Given the description of an element on the screen output the (x, y) to click on. 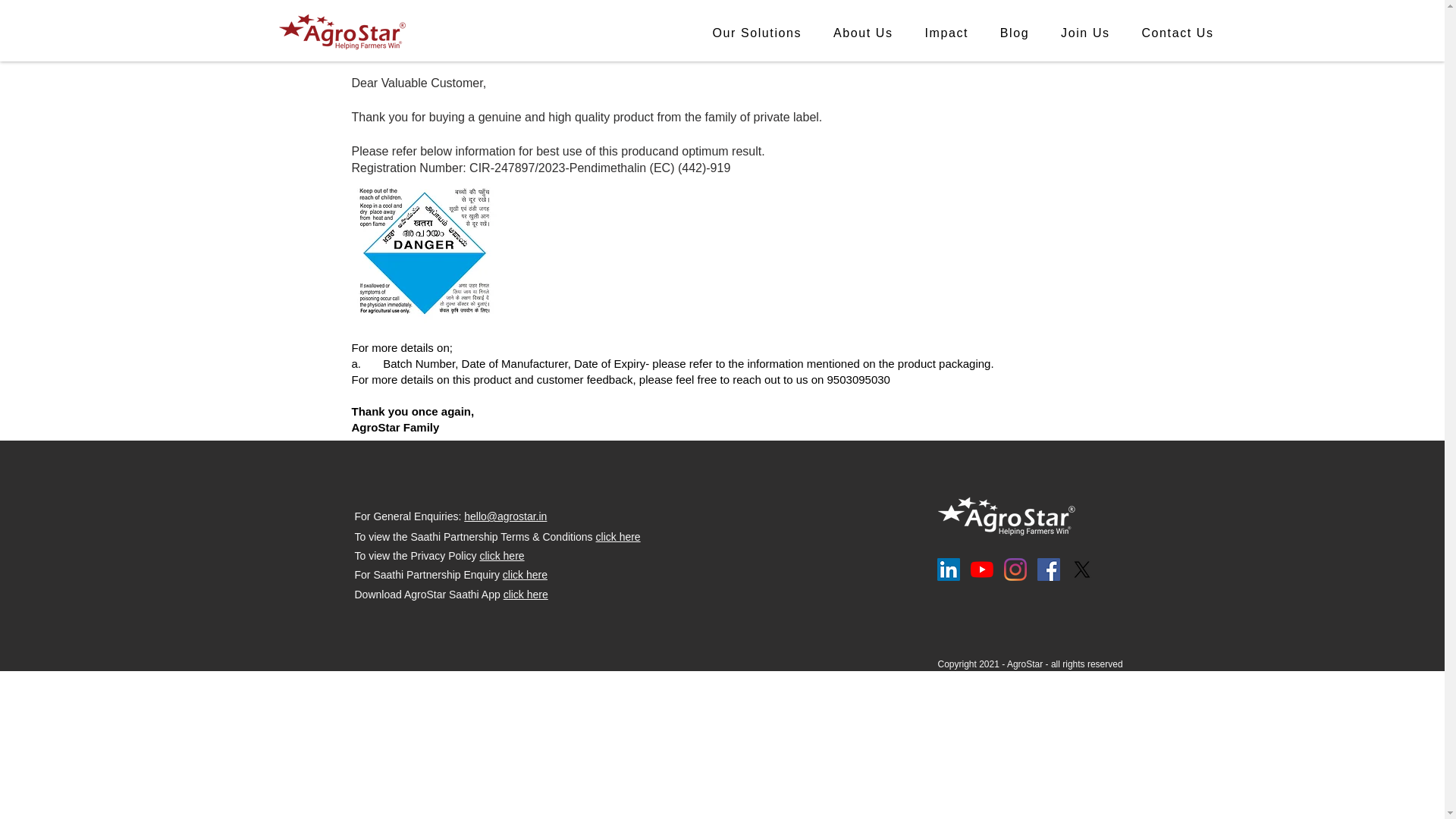
Blog (1014, 32)
Join Us (1085, 32)
click here (501, 555)
click here (524, 574)
click here (617, 536)
click here (525, 594)
Contact Us (961, 32)
Impact (1178, 32)
